Given the description of an element on the screen output the (x, y) to click on. 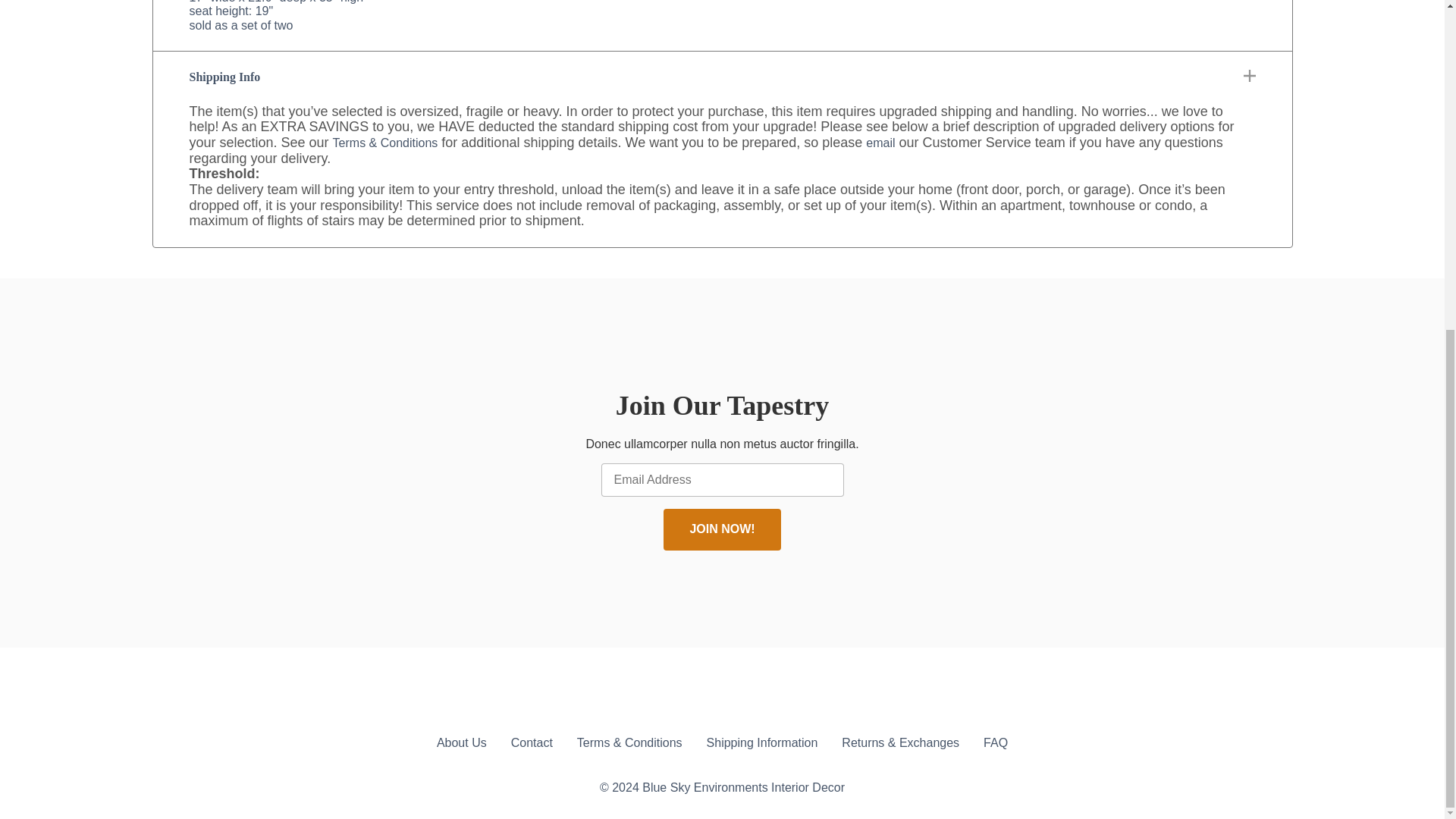
Contact (532, 743)
About Us (461, 743)
JOIN NOW! (721, 528)
FAQ (995, 743)
Shipping Information (762, 743)
email (880, 142)
Shipping Info (722, 77)
